Given the description of an element on the screen output the (x, y) to click on. 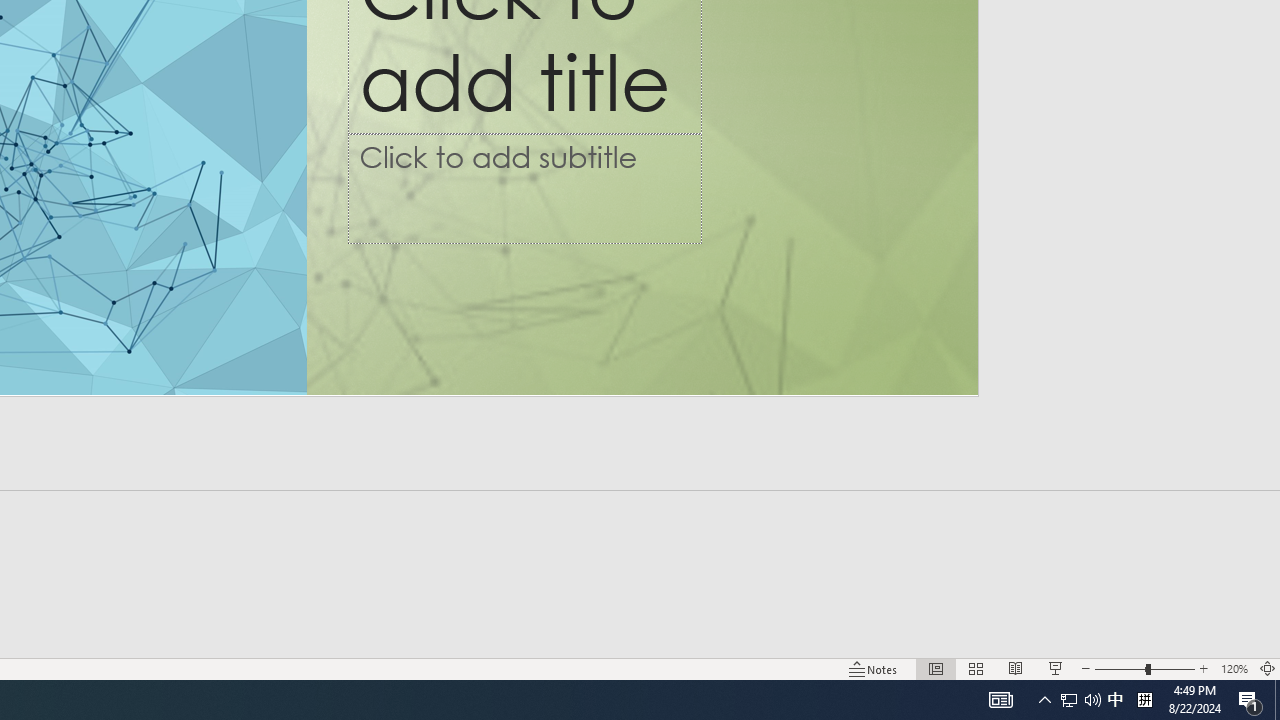
Zoom 120% (1234, 668)
Notes  (874, 668)
Reading View (1015, 668)
Zoom Out (1119, 668)
Zoom (1144, 668)
Zoom In (1204, 668)
Slide Sorter (975, 668)
Normal (936, 668)
Zoom to Fit  (1267, 668)
